Given the description of an element on the screen output the (x, y) to click on. 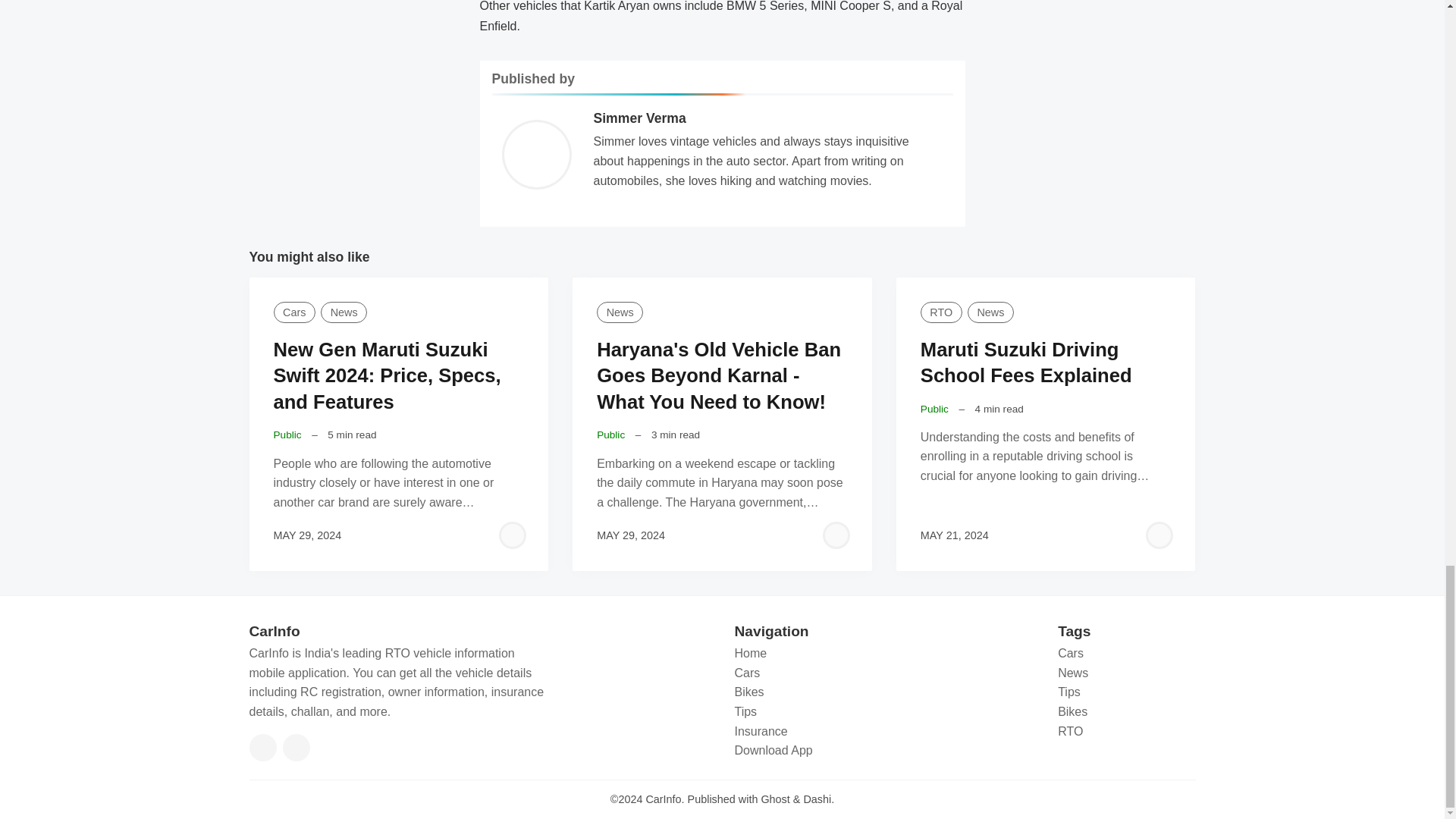
RSS (295, 747)
Simmer Verma (638, 118)
New Gen Maruti Suzuki Swift 2024: Price, Specs, and Features (386, 376)
Himanshu Mishra (512, 535)
Cars (293, 312)
Himanshu Mishra (836, 535)
Instagram (262, 747)
Himanshu Mishra (1159, 535)
RTO (941, 312)
News (619, 312)
News (343, 312)
